Given the description of an element on the screen output the (x, y) to click on. 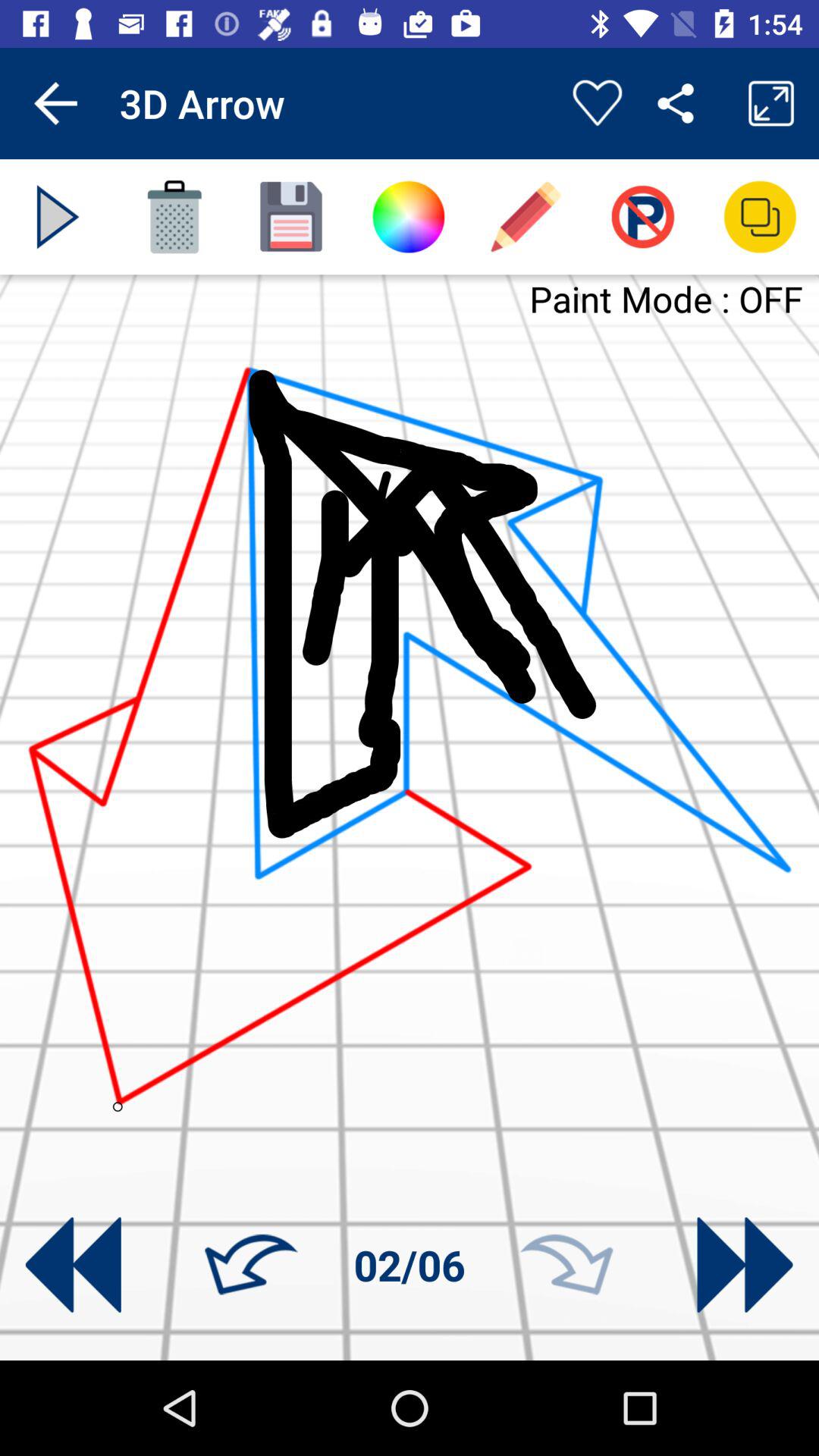
mark as favorite (597, 102)
